Given the description of an element on the screen output the (x, y) to click on. 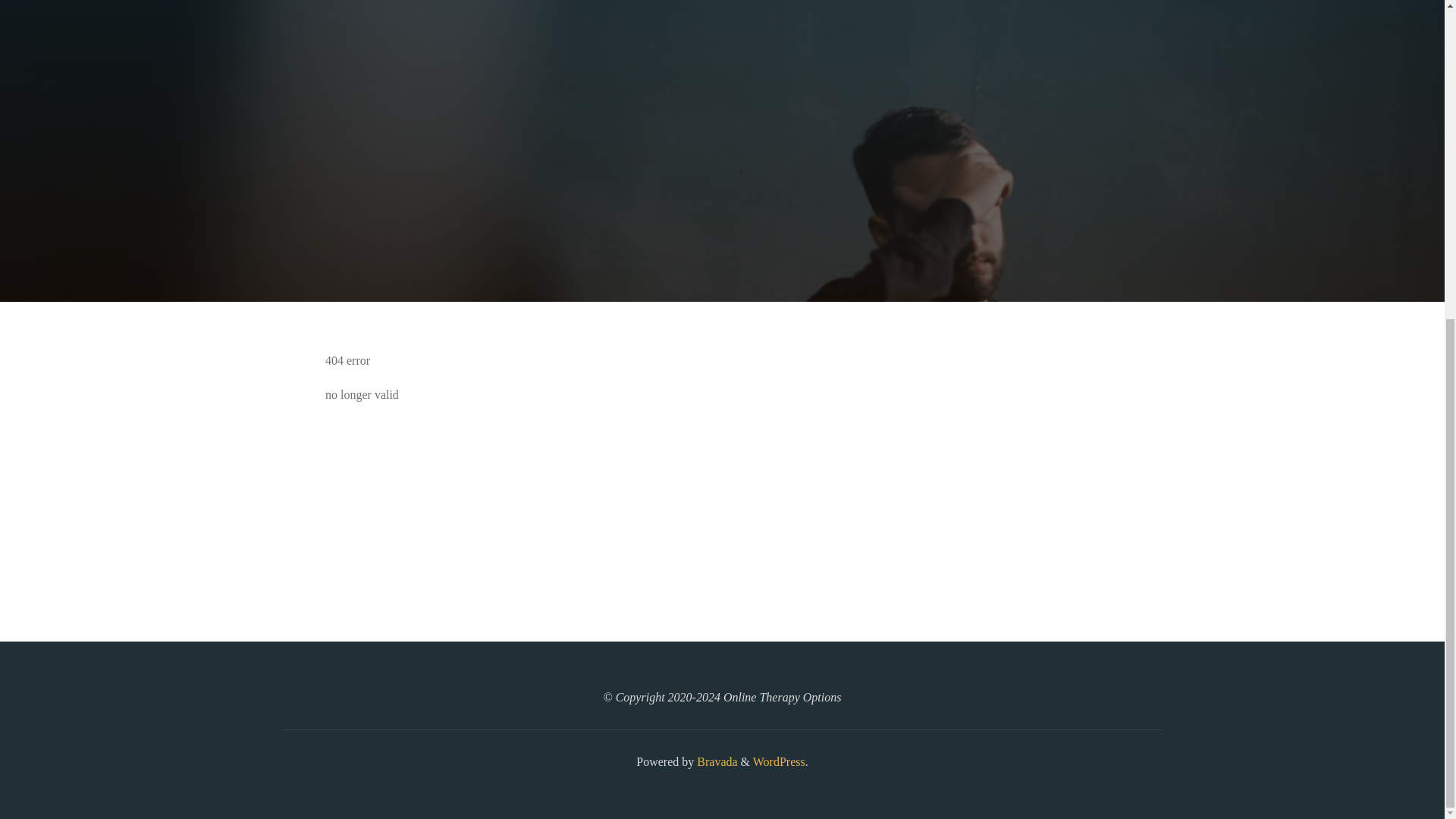
Bravada WordPress Theme by Cryout Creations (715, 761)
Semantic Personal Publishing Platform (778, 761)
WordPress (778, 761)
Read more (721, 207)
Bravada (715, 761)
